Given the description of an element on the screen output the (x, y) to click on. 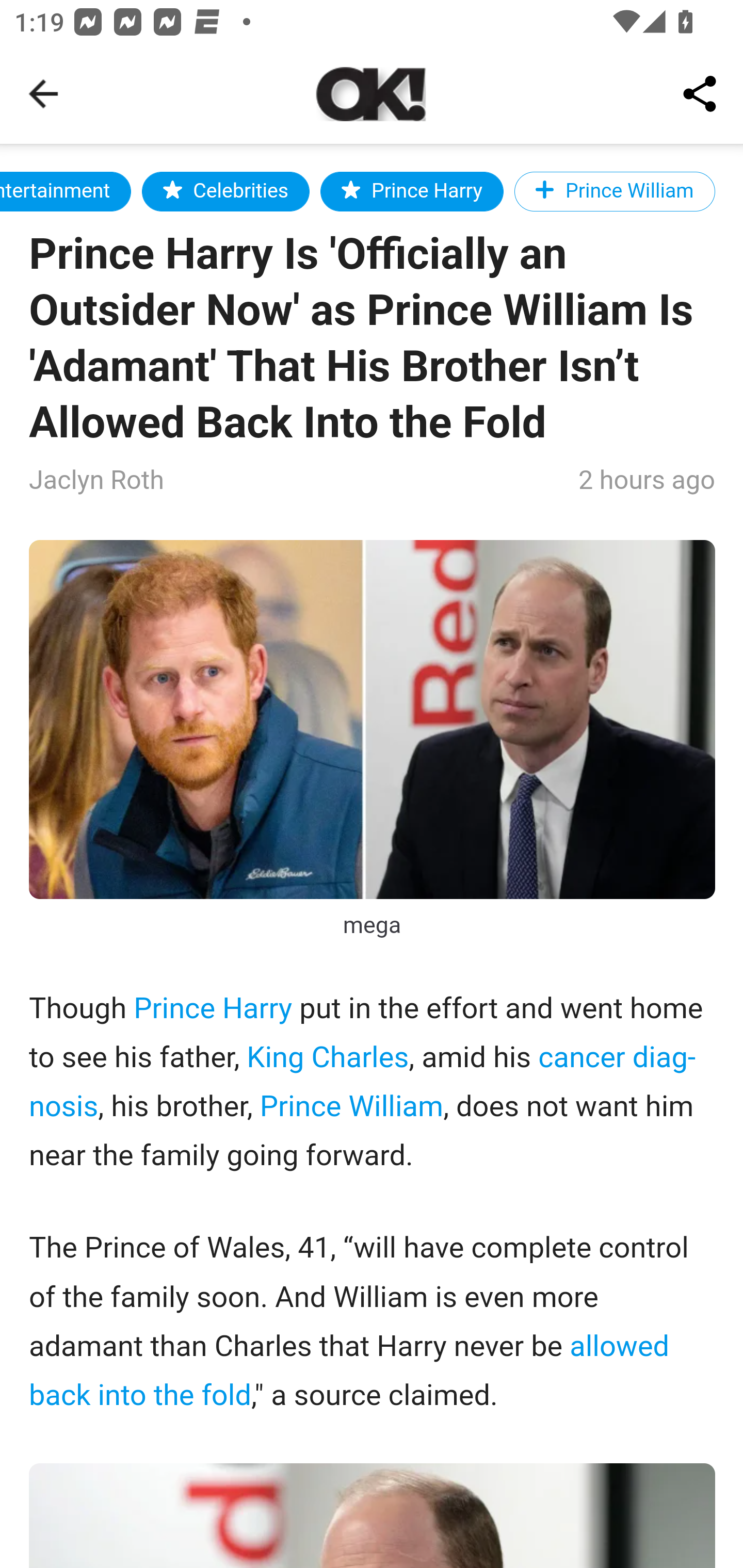
Celebrities (225, 191)
Prince Harry (411, 191)
Prince William (614, 191)
Prince Harry (212, 1009)
cancer diagnosis (362, 1082)
King Charles (327, 1057)
Prince William (350, 1106)
allowed back into the fold (348, 1371)
